Given the description of an element on the screen output the (x, y) to click on. 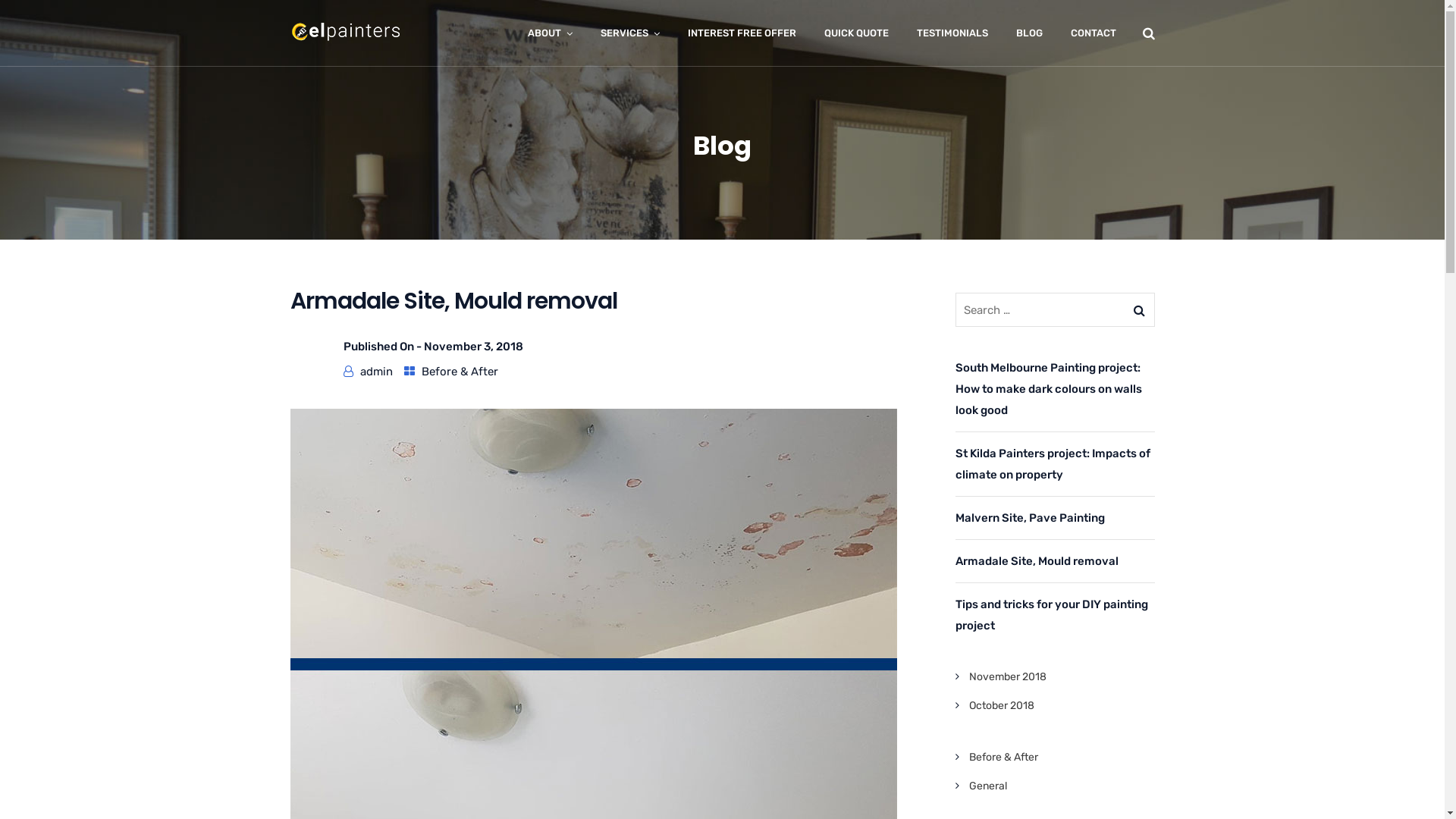
TESTIMONIALS Element type: text (951, 32)
October 2018 Element type: text (1001, 705)
St Kilda Painters project: Impacts of climate on property Element type: text (1054, 463)
ABOUT Element type: text (549, 32)
CONTACT Element type: text (1093, 32)
BLOG Element type: text (1029, 32)
Armadale Site, Mould removal Element type: text (1054, 560)
November 3, 2018 Element type: text (472, 346)
SERVICES Element type: text (629, 32)
admin Element type: text (375, 371)
Before & After Element type: text (1003, 756)
INTEREST FREE OFFER Element type: text (741, 32)
Tips and tricks for your DIY painting project Element type: text (1054, 614)
General Element type: text (988, 785)
Malvern Site, Pave Painting Element type: text (1054, 517)
November 2018 Element type: text (1007, 676)
QUICK QUOTE Element type: text (855, 32)
Before & After Element type: text (459, 371)
